Given the description of an element on the screen output the (x, y) to click on. 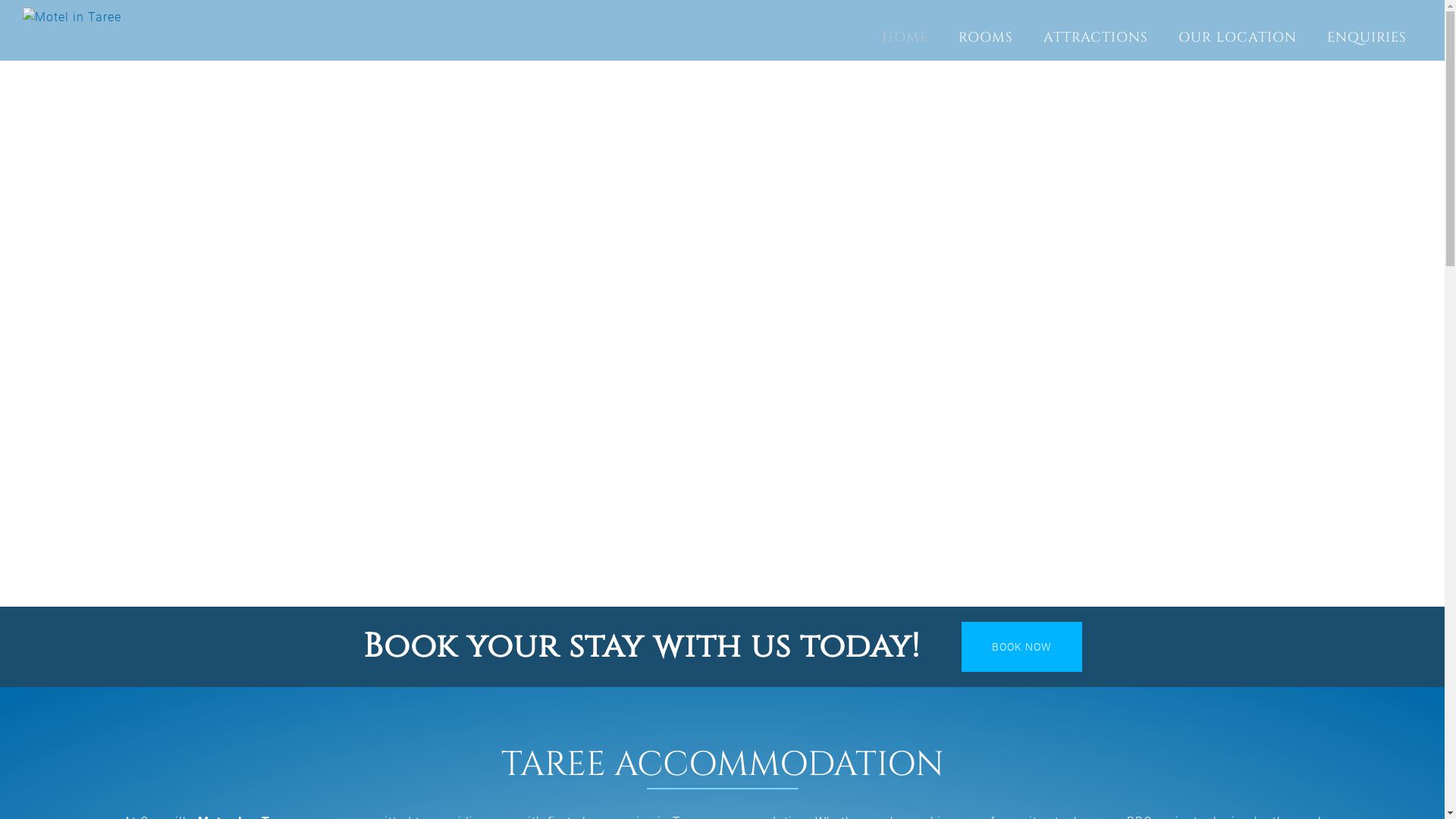
ENQUIRIES Element type: text (1366, 37)
ATTRACTIONS Element type: text (1095, 37)
HOME Element type: text (904, 37)
BOOK NOW Element type: text (1021, 646)
ROOMS Element type: text (985, 37)
OUR LOCATION Element type: text (1237, 37)
